Given the description of an element on the screen output the (x, y) to click on. 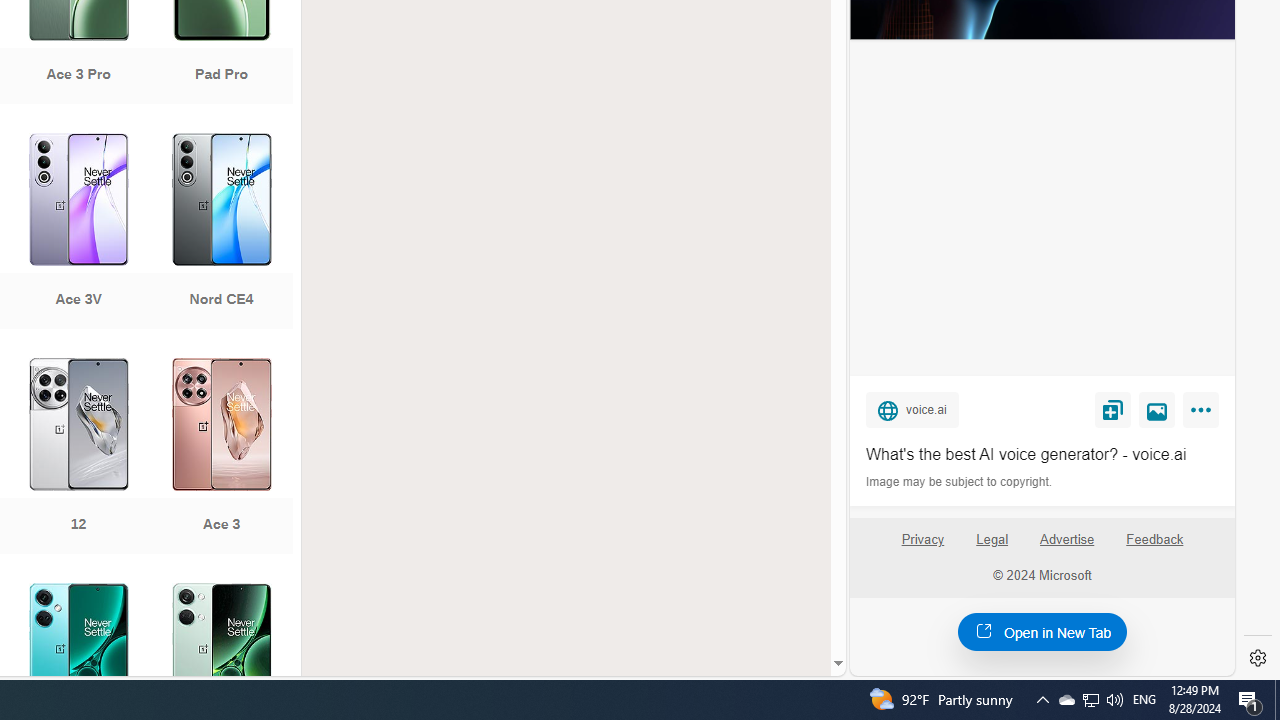
Legal (991, 539)
Advertise (1066, 539)
voice.ai (912, 409)
Nord CE4 (221, 233)
Open in New Tab (1042, 631)
Privacy (922, 547)
